Given the description of an element on the screen output the (x, y) to click on. 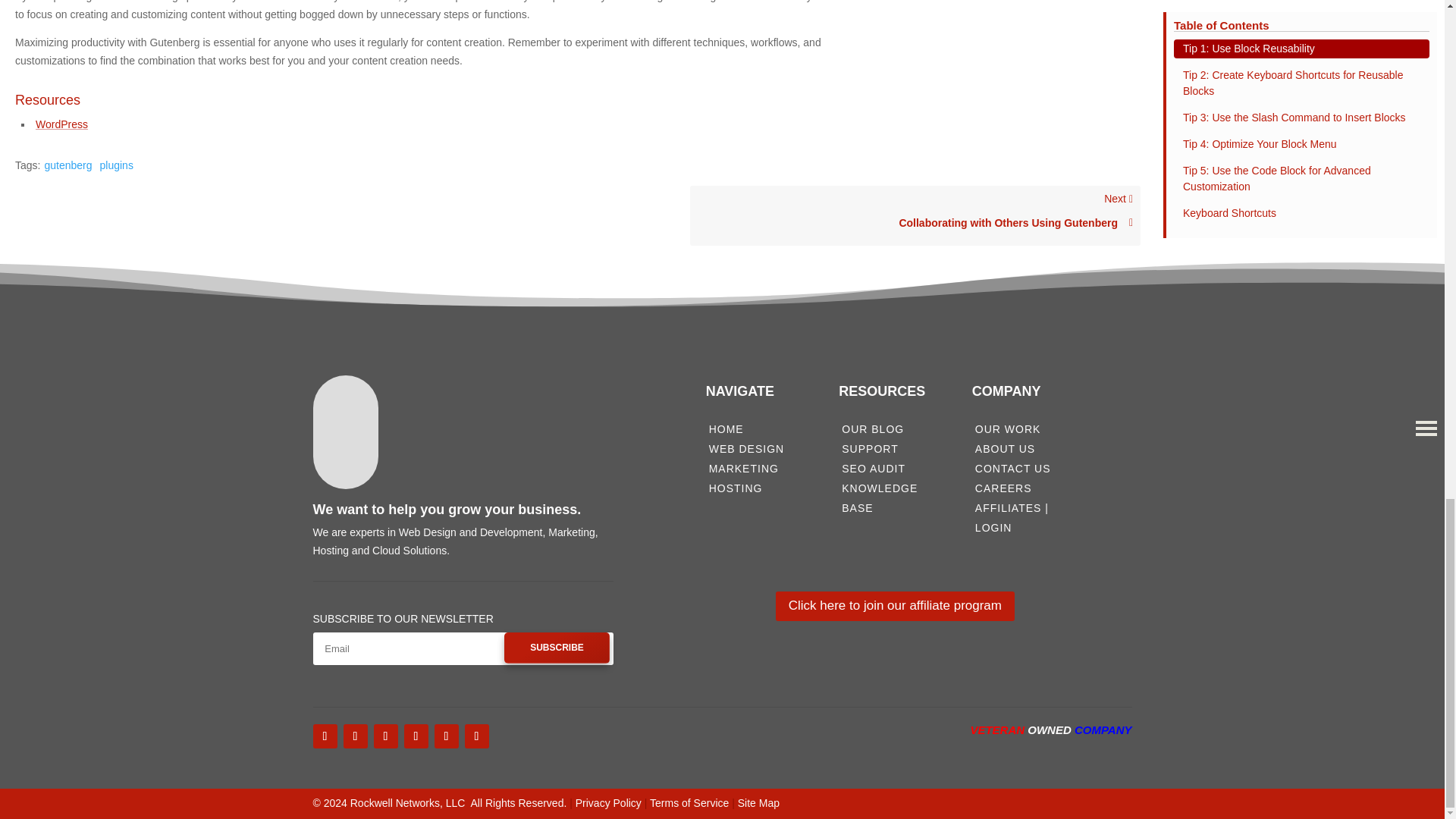
WordPress (60, 123)
Follow on Google (384, 735)
veteran-owned-company (1055, 760)
Collaborating with Others Using Gutenberg (914, 223)
HOME (726, 428)
WordPress (60, 123)
Follow on X (415, 735)
plugins (116, 164)
redflippers-logo (473, 413)
SUBSCRIBE (556, 647)
Follow on LinkedIn (915, 215)
Follow on Instagram (354, 735)
Follow on Pinterest (445, 735)
redflippers (475, 735)
